Given the description of an element on the screen output the (x, y) to click on. 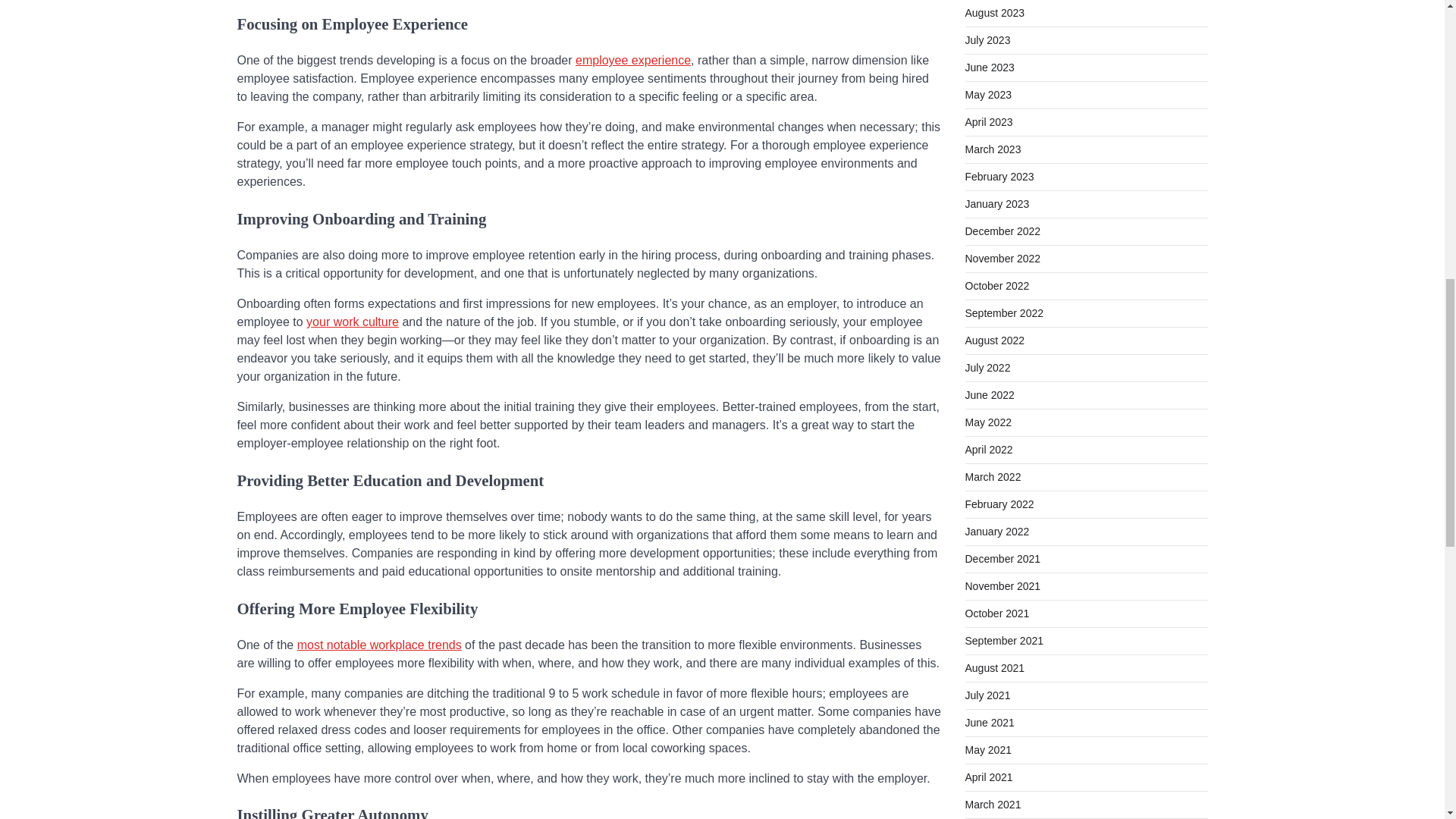
your work culture (351, 321)
employee experience (632, 60)
most notable workplace trends (379, 644)
